Given the description of an element on the screen output the (x, y) to click on. 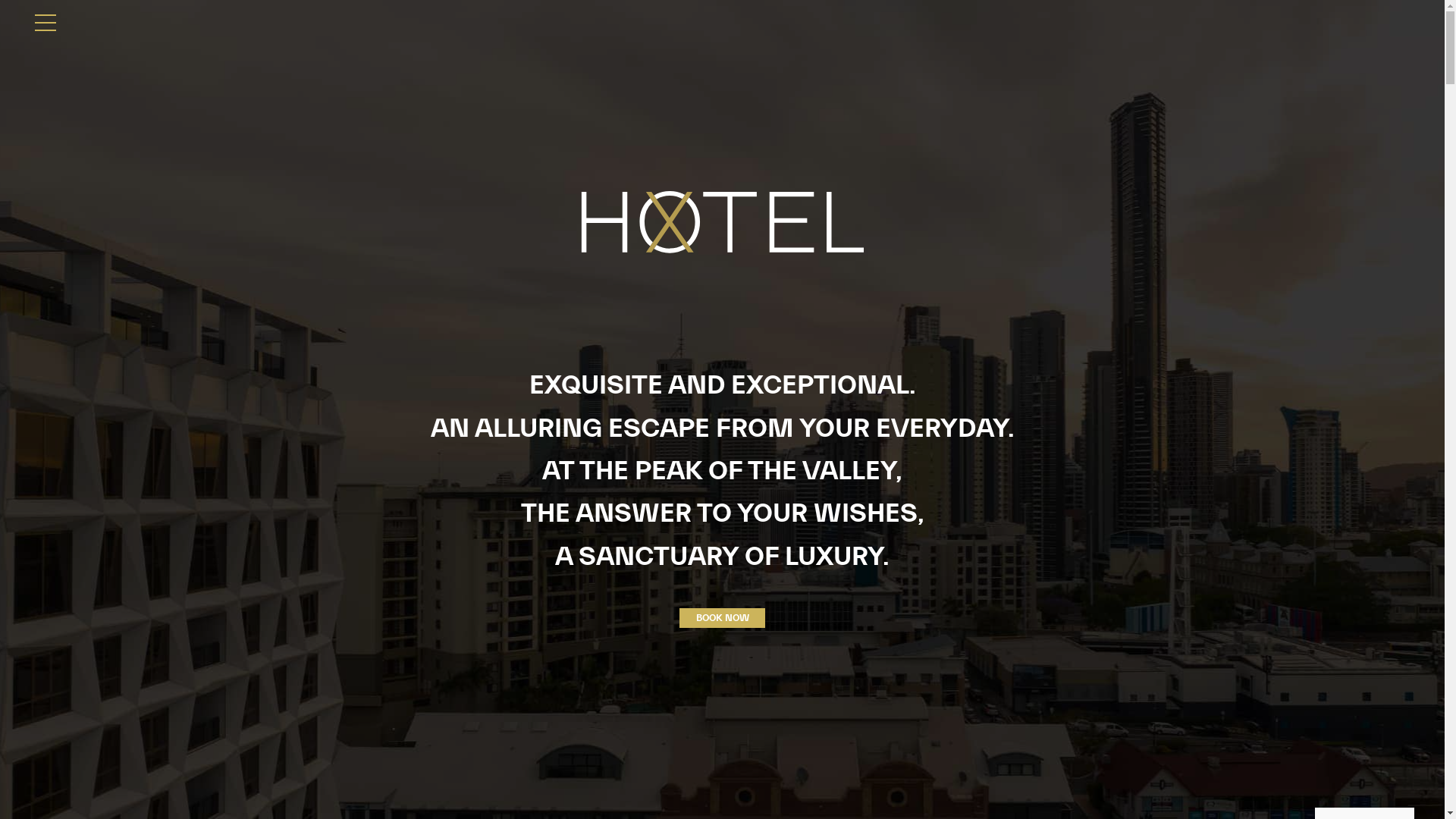
BOOK NOW Element type: text (722, 617)
